Given the description of an element on the screen output the (x, y) to click on. 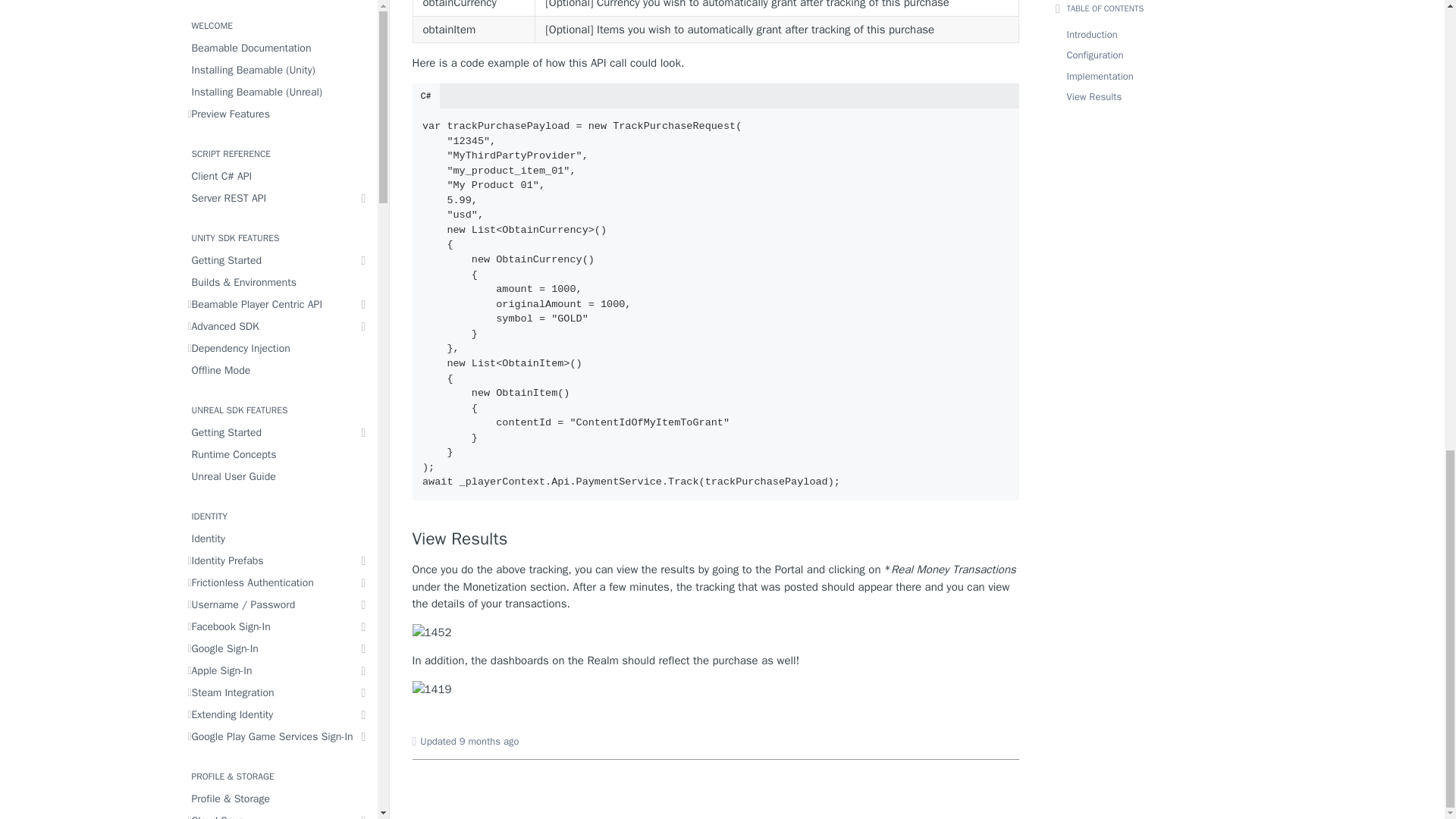
View Results (715, 538)
